Given the description of an element on the screen output the (x, y) to click on. 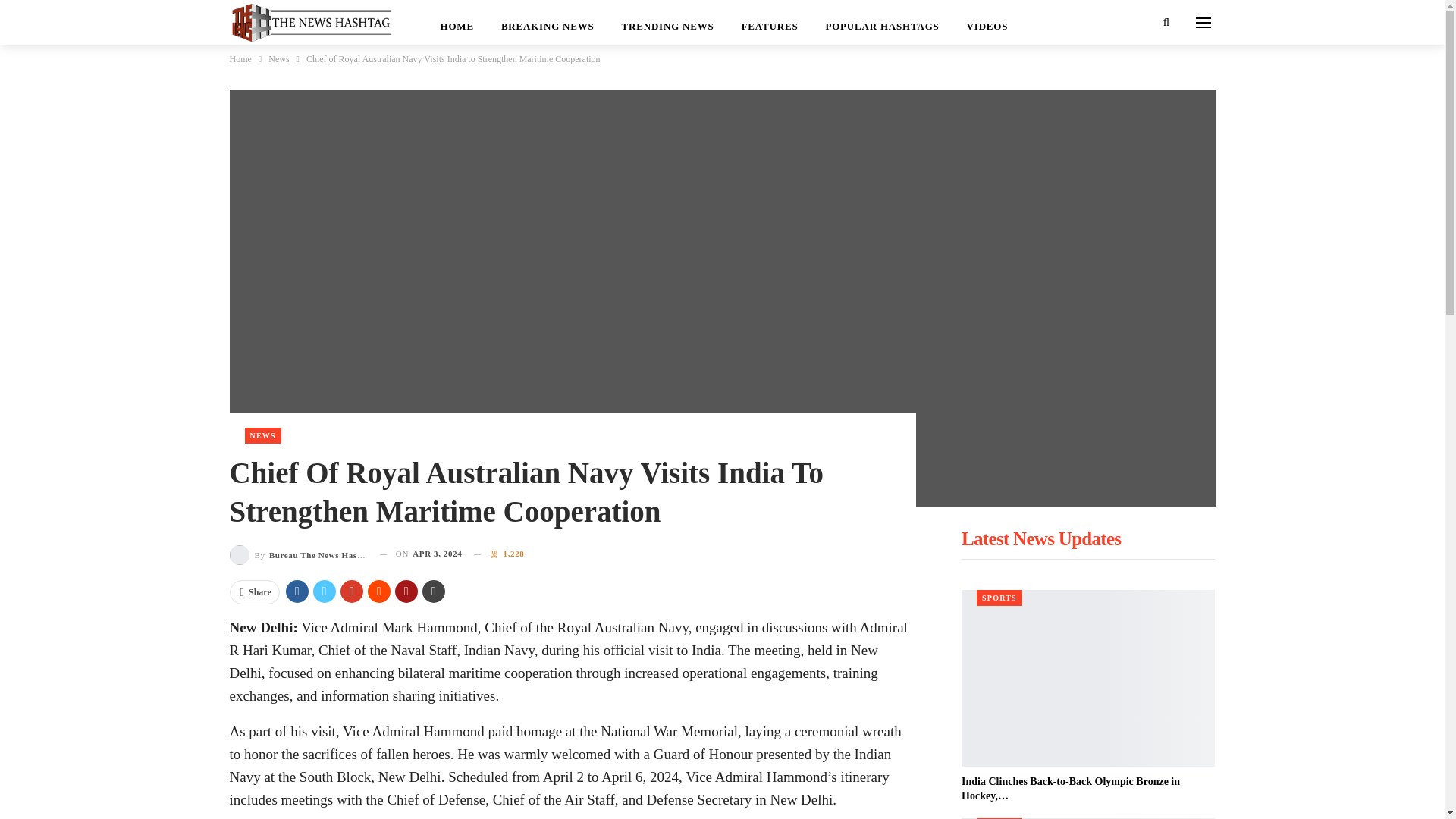
Browse Author Articles (298, 553)
FEATURES (770, 22)
POPULAR HASHTAGS (881, 22)
News (277, 58)
Home (239, 58)
TRENDING NEWS (668, 22)
VIDEOS (987, 22)
NEWS (262, 435)
By Bureau The News Hashtag (298, 553)
HOME (456, 22)
